Given the description of an element on the screen output the (x, y) to click on. 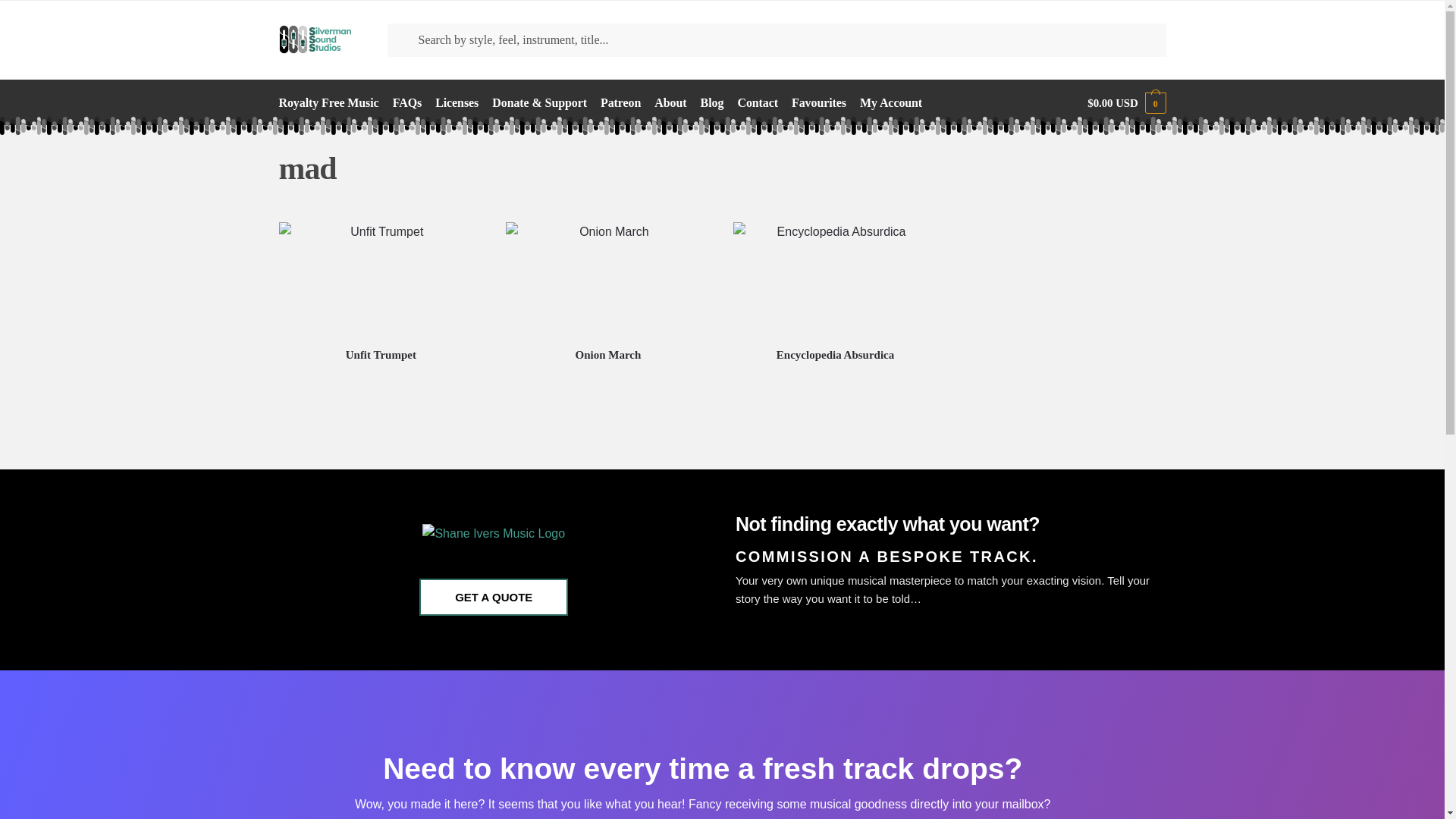
My Account (890, 103)
Encyclopedia Absurdica (835, 354)
Unfit Trumpet (381, 279)
GET A QUOTE (493, 596)
Favourites (817, 103)
View your shopping cart (1126, 103)
Encyclopedia Absurdica (835, 279)
Onion March (607, 354)
About (670, 103)
Licenses (456, 103)
Unfit Trumpet (381, 354)
FAQs (406, 103)
Royalty Free Music (332, 103)
Contact (757, 103)
Blog (712, 103)
